Given the description of an element on the screen output the (x, y) to click on. 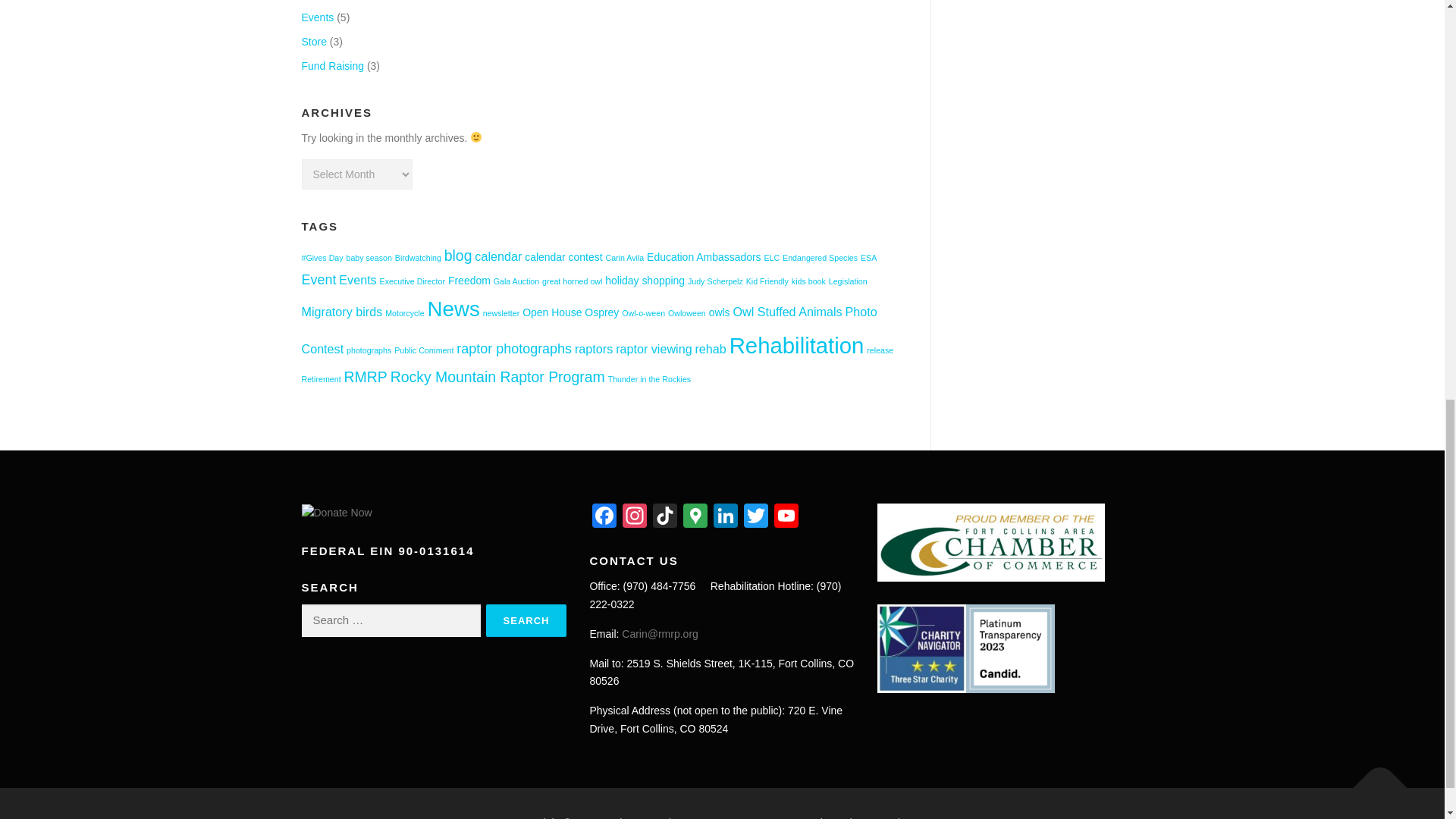
YouTube (786, 517)
Twitter (756, 517)
TikTok (664, 517)
Facebook (604, 517)
Instagram (634, 517)
Search (526, 620)
LinkedIn (725, 517)
Search (526, 620)
Back To Top (1372, 779)
Google Maps (694, 517)
